Given the description of an element on the screen output the (x, y) to click on. 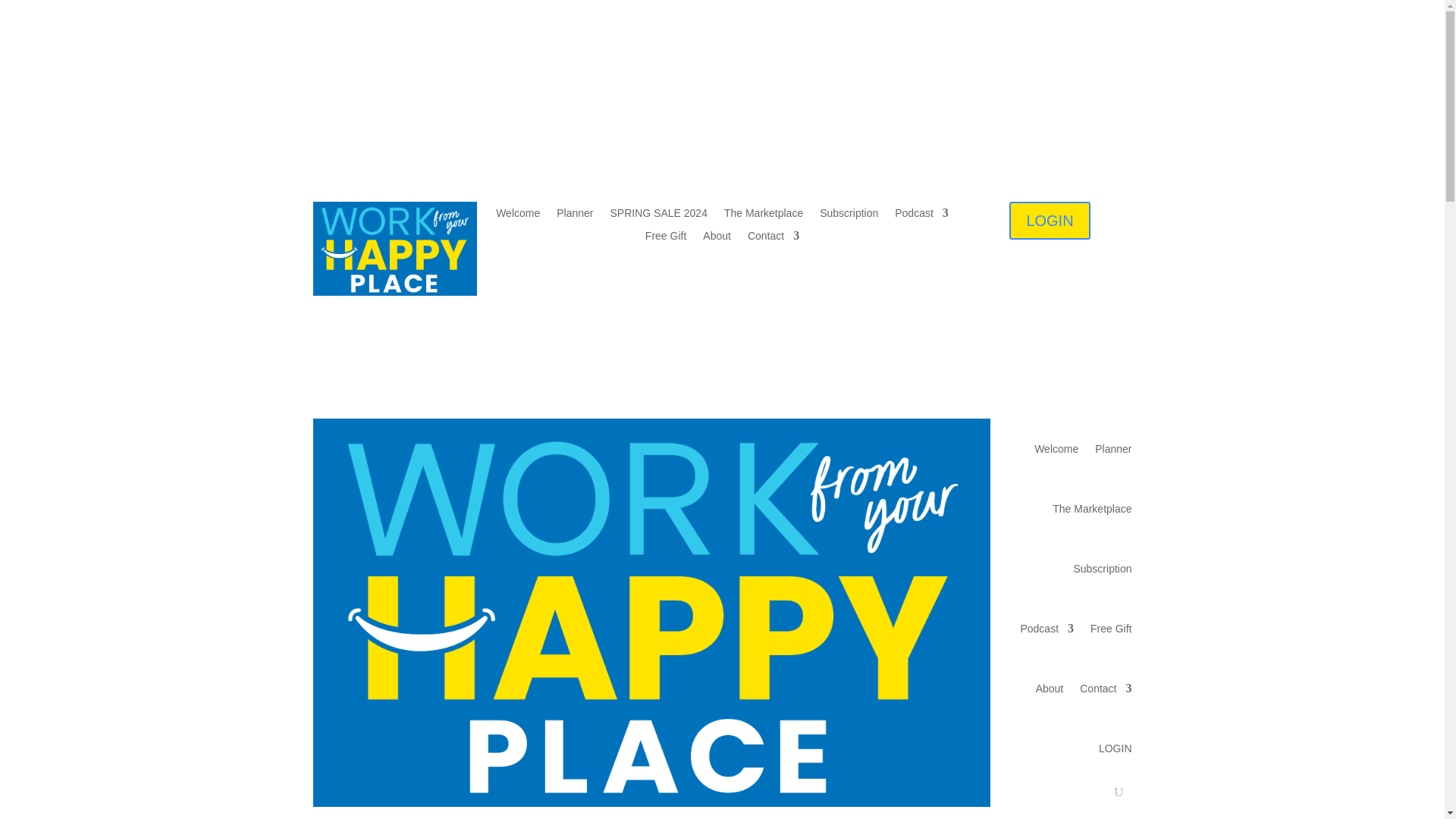
PLANNER (445, 71)
Episode 113 Youtube Thumbnail (462, 608)
CONTACT (722, 94)
THE MARKETPLACE (694, 71)
SUBSCRIPTION (823, 71)
LOGIN (1268, 73)
FREE GIFT (1017, 71)
PODCAST (927, 71)
SPRING SALE 2024 (552, 71)
